Given the description of an element on the screen output the (x, y) to click on. 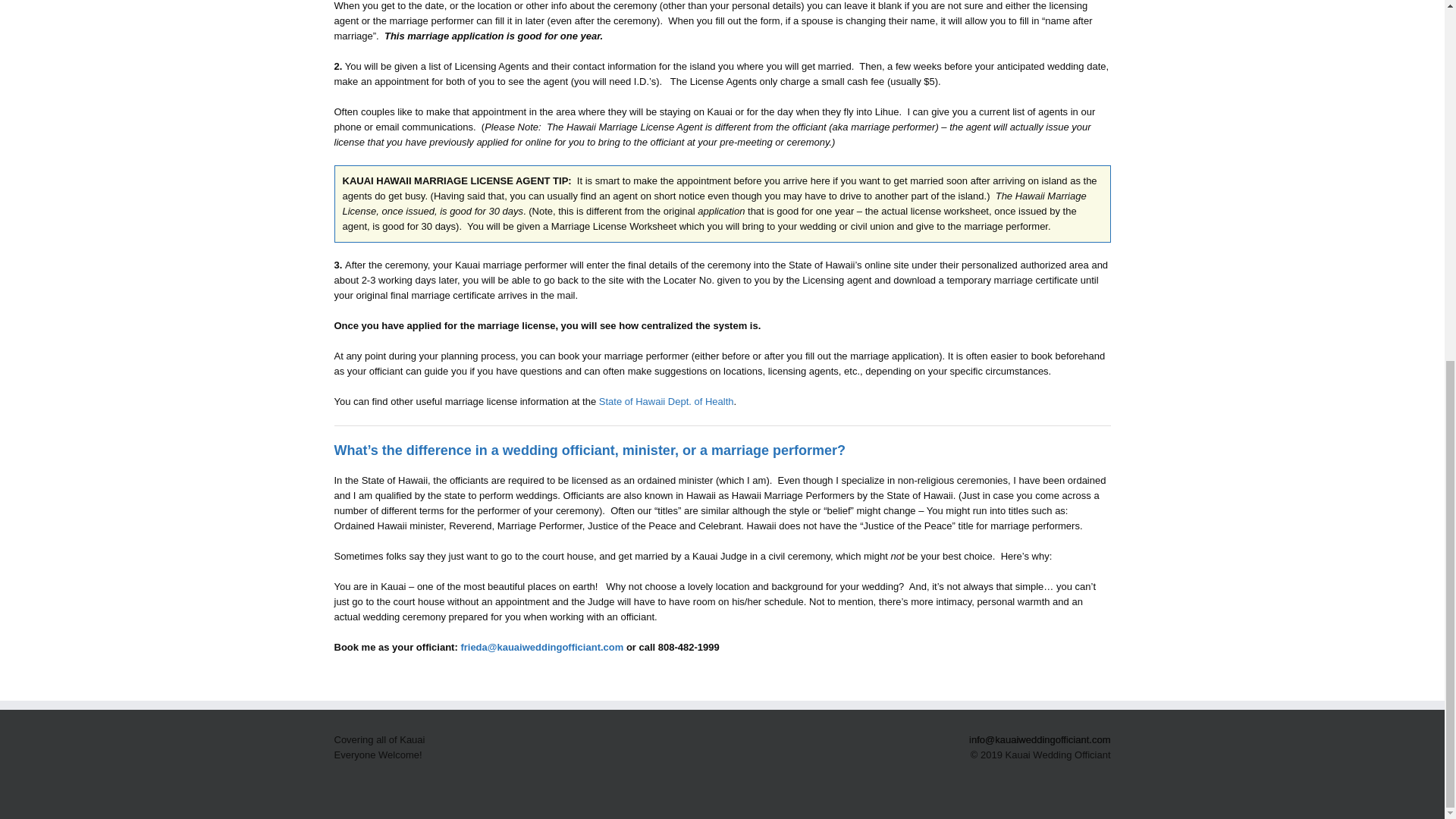
Useful Marriage License Info (665, 401)
State of Hawaii Dept. of Health (665, 401)
